Given the description of an element on the screen output the (x, y) to click on. 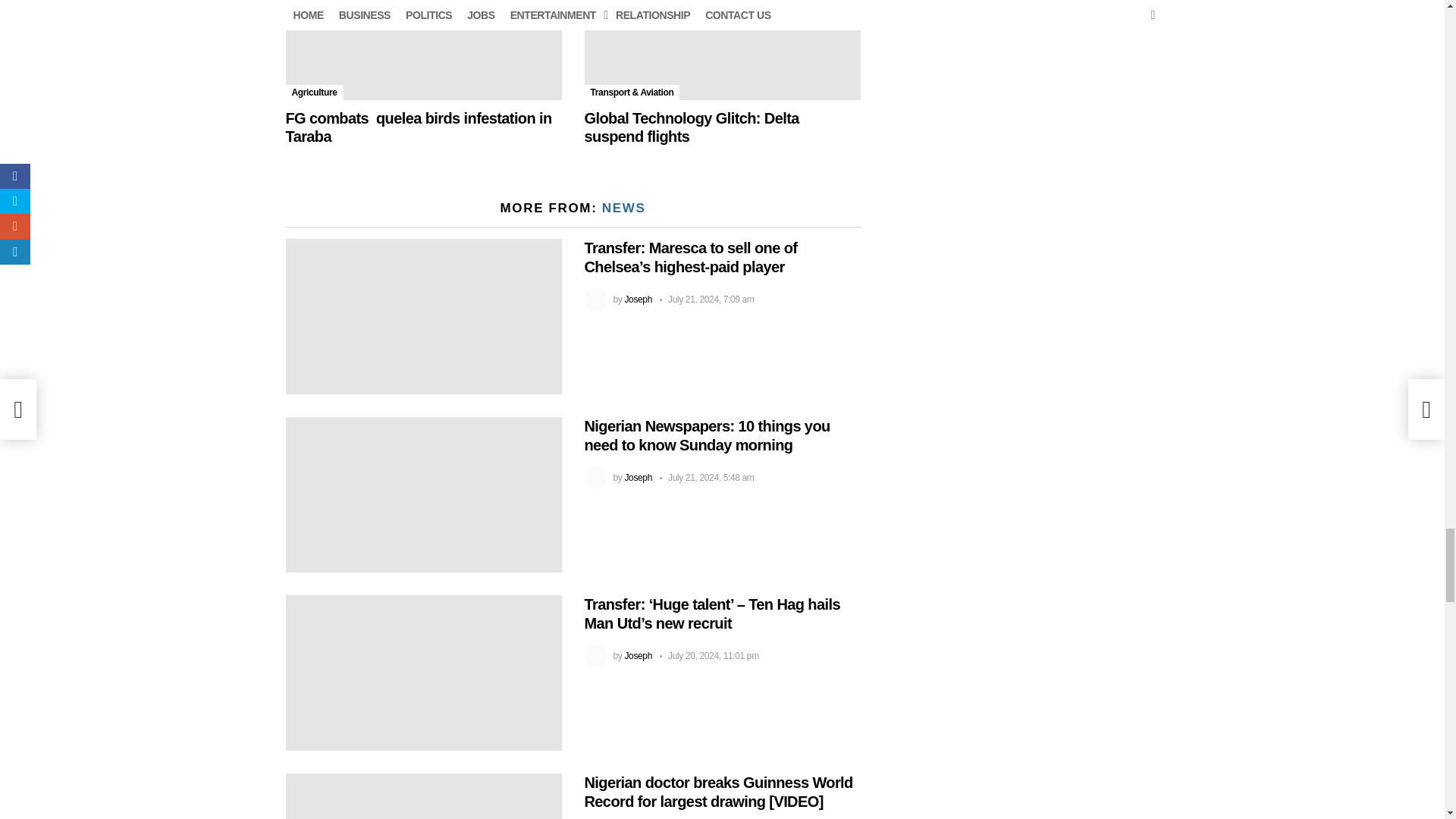
Posts by Joseph (638, 299)
Posts by Joseph (638, 477)
Global Technology Glitch: Delta suspend flights (721, 49)
